Given the description of an element on the screen output the (x, y) to click on. 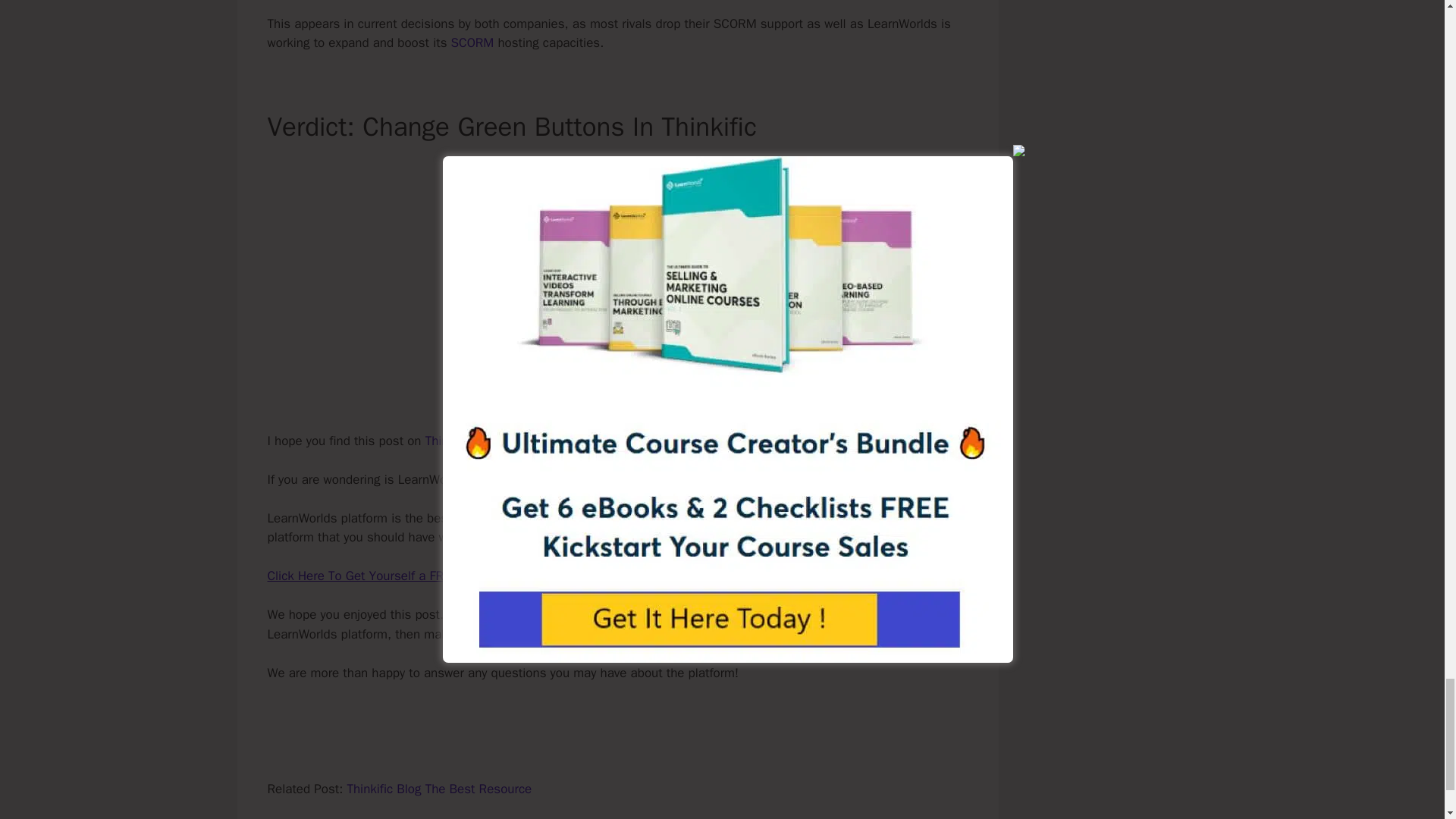
Click Here To Get Yourself a FREE TRIAL (379, 575)
Thinkific Blog The Best Resource (438, 788)
Thinkific platform (473, 440)
SCORM (473, 42)
